Given the description of an element on the screen output the (x, y) to click on. 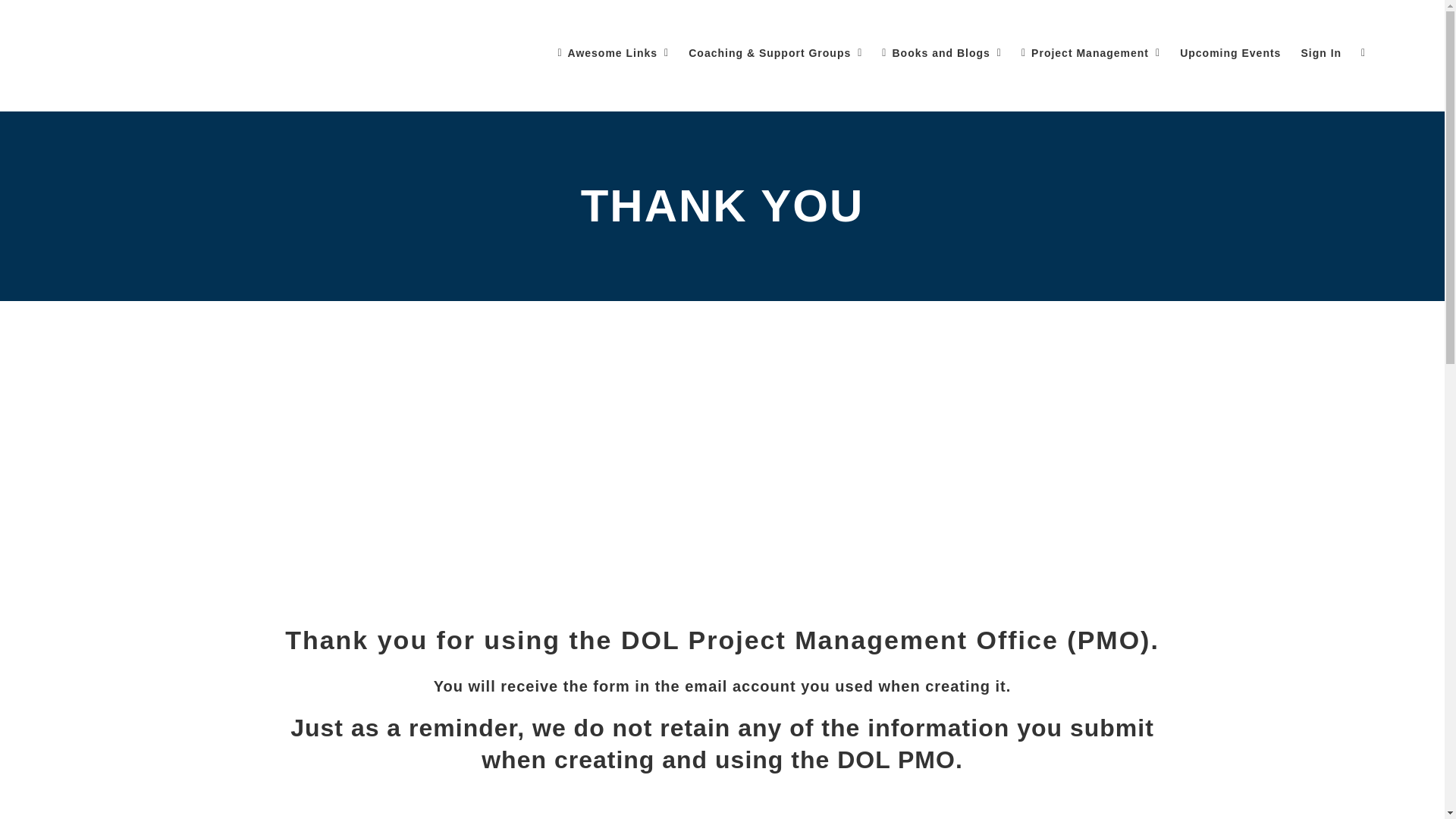
Books and Blogs (941, 52)
Upcoming Events (1230, 52)
Awesome Links (612, 52)
Project Management (1091, 52)
